Given the description of an element on the screen output the (x, y) to click on. 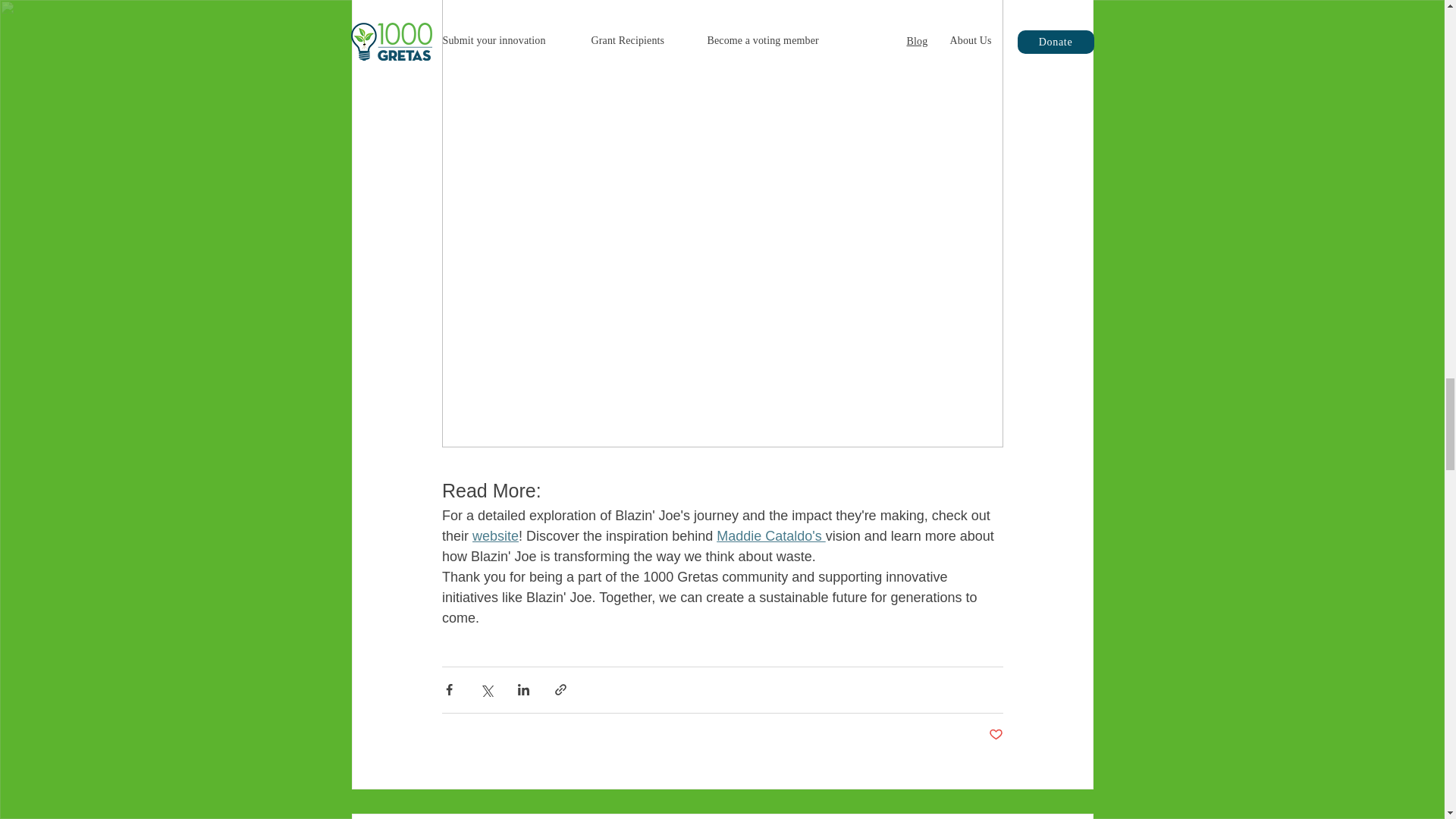
Maddie Cataldo's  (770, 535)
website (494, 535)
Post not marked as liked (995, 734)
